Given the description of an element on the screen output the (x, y) to click on. 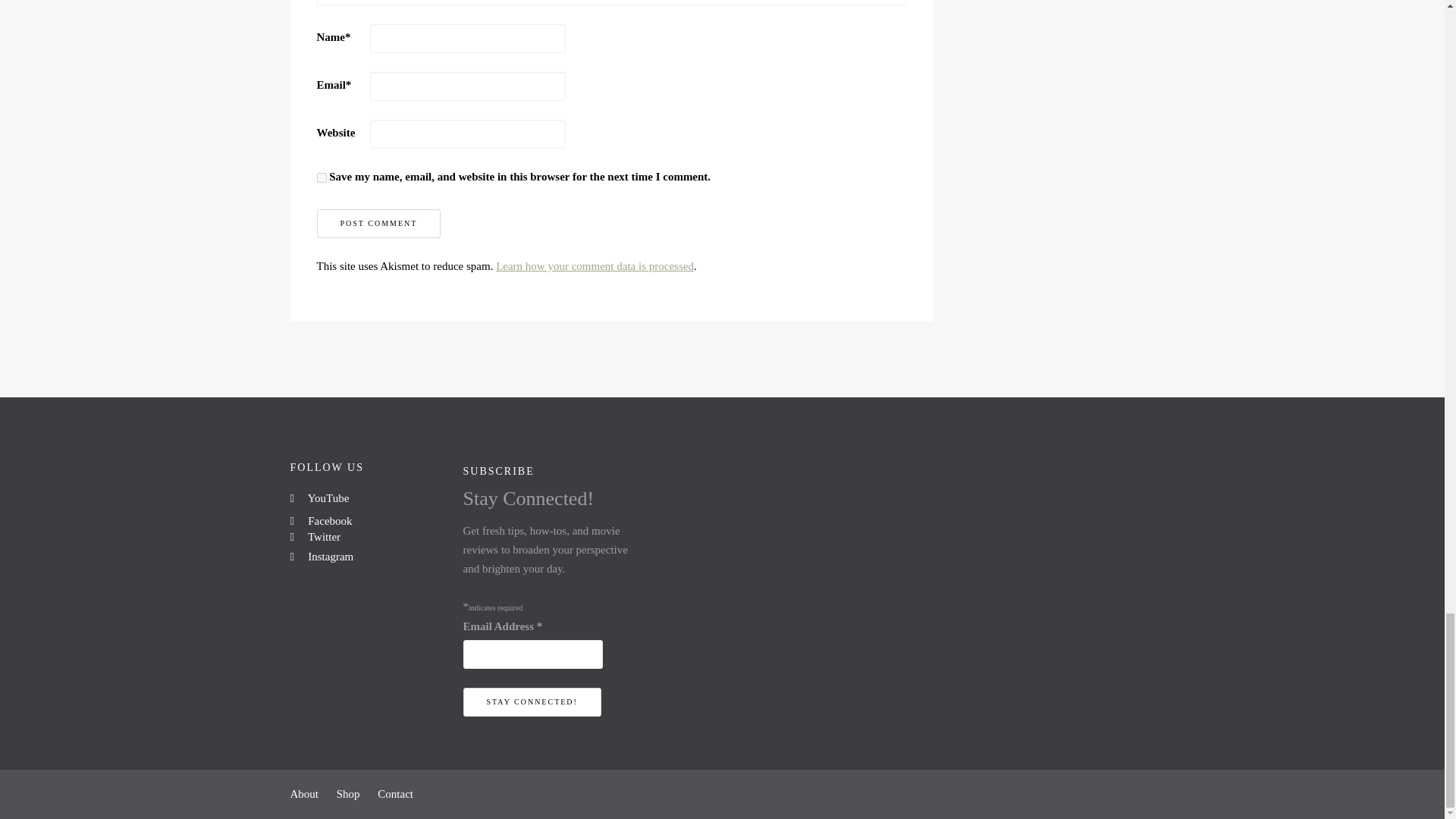
Post comment (379, 223)
Post comment (379, 223)
Stay Connected! (531, 701)
yes (321, 177)
Learn how your comment data is processed (595, 265)
